Given the description of an element on the screen output the (x, y) to click on. 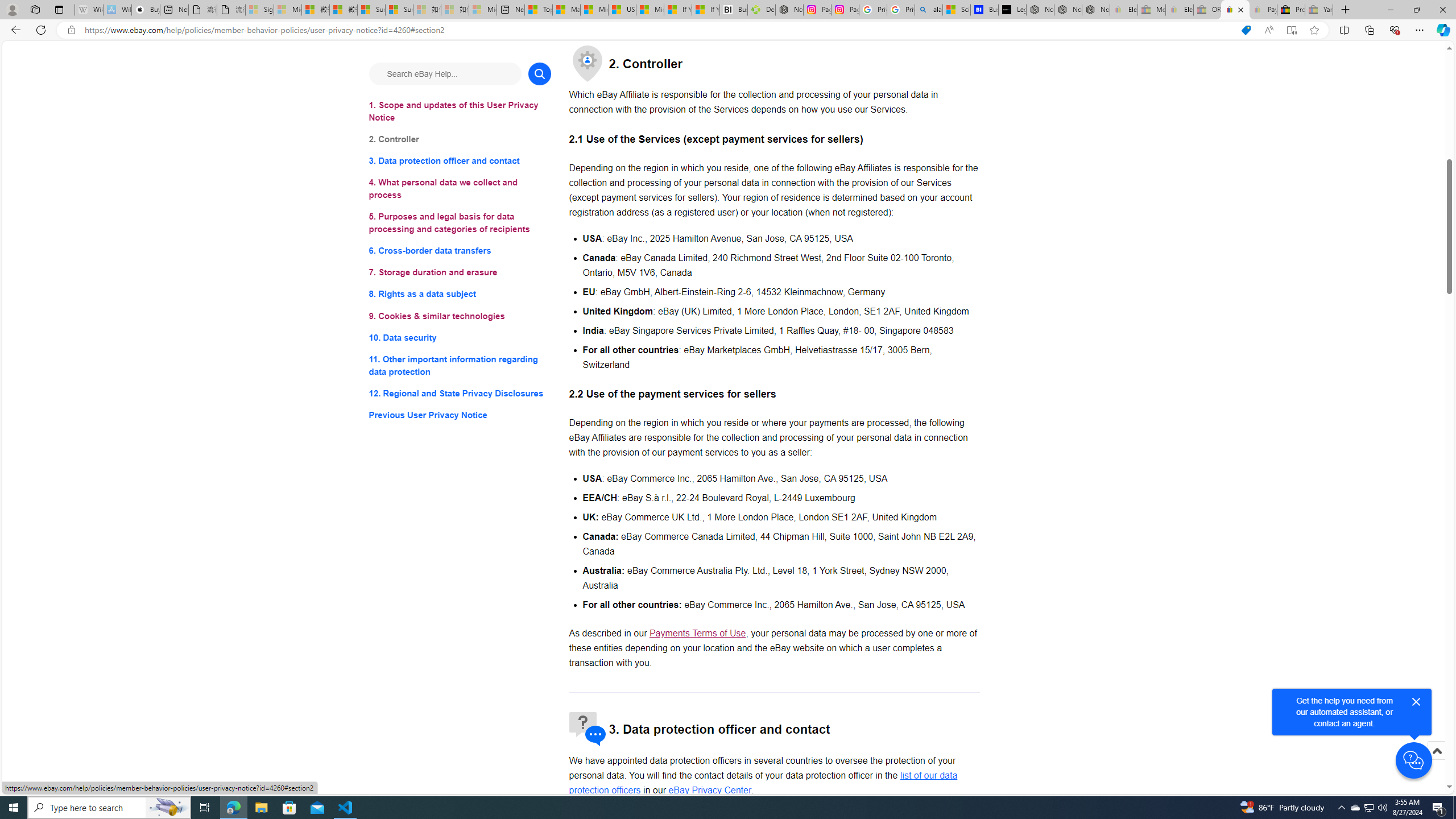
8. Rights as a data subject (459, 293)
4. What personal data we collect and process (459, 189)
9. Cookies & similar technologies (459, 315)
3. Data protection officer and contact (459, 160)
eBay Privacy Center - opens in new window or tab (709, 789)
